Given the description of an element on the screen output the (x, y) to click on. 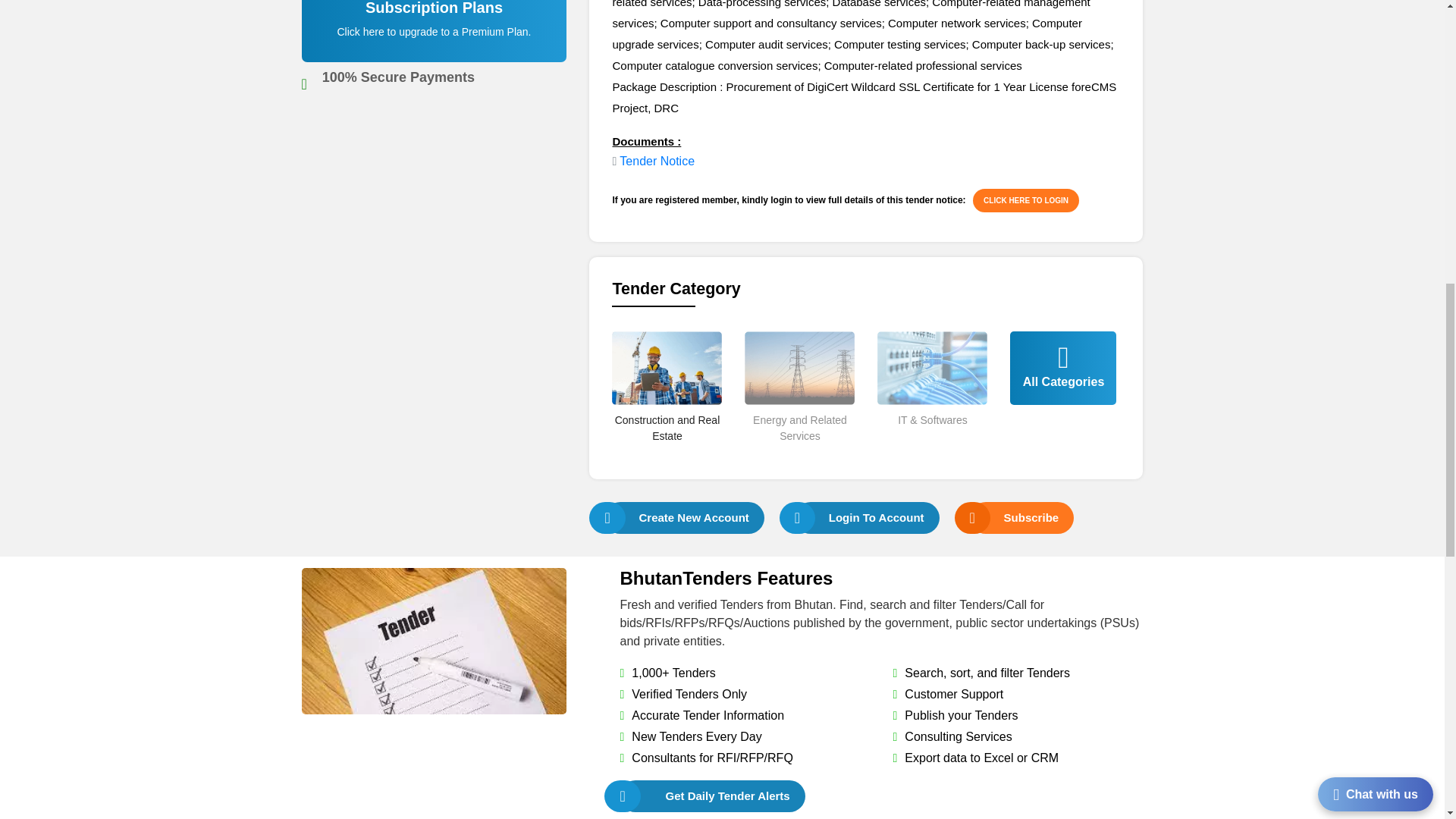
CLICK HERE TO LOGIN (1025, 200)
Click here to upgrade to a Premium Plan. (433, 31)
Energy and Related Services (799, 454)
Subscribe (1022, 517)
Subscription Plans (434, 39)
All Categories (1062, 390)
Create New Account (684, 517)
Get Daily Tender Alerts (712, 795)
Tender Notice (657, 160)
Login To Account (866, 517)
Construction and Real Estate (666, 454)
